Given the description of an element on the screen output the (x, y) to click on. 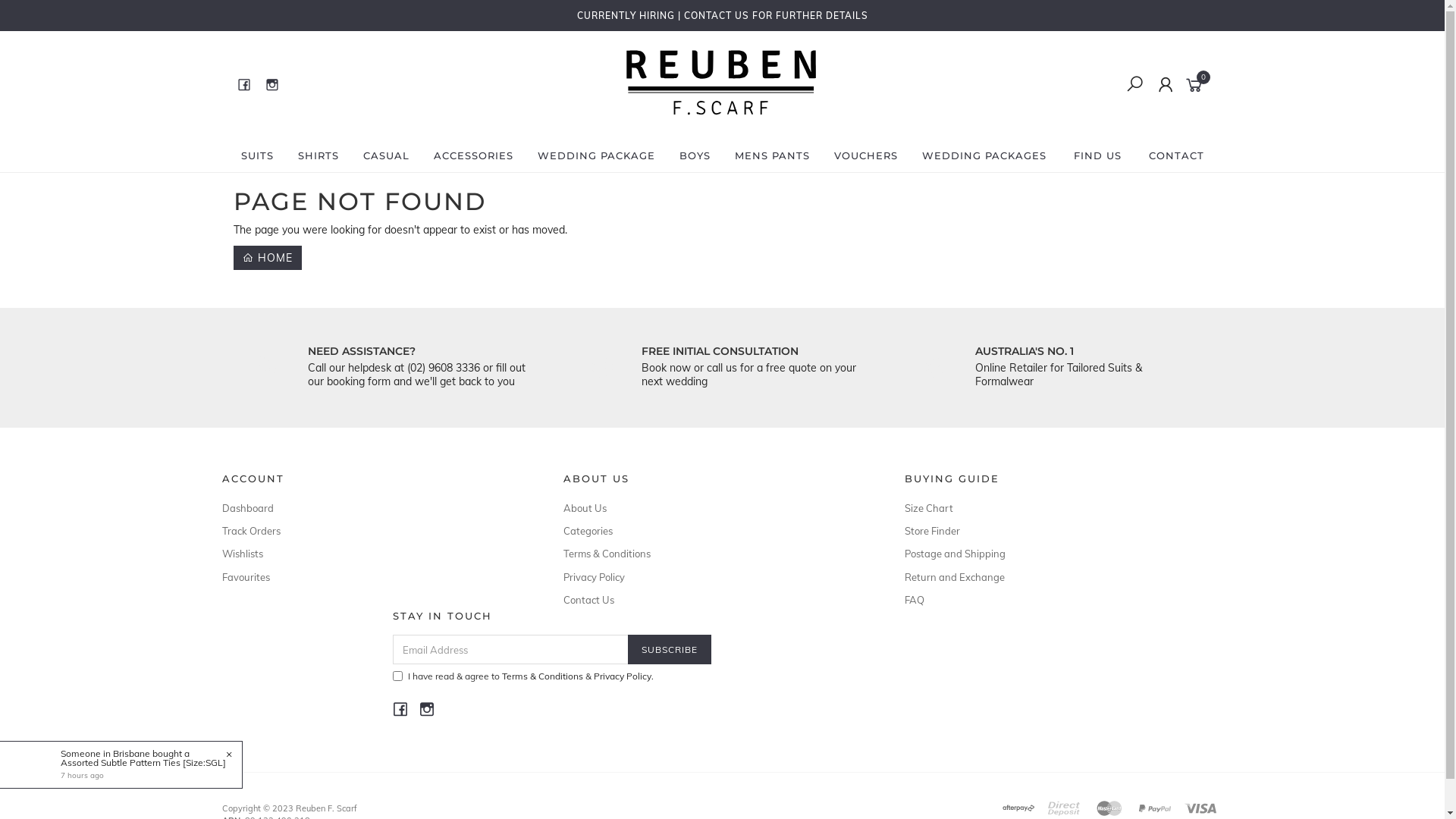
Wishlists Element type: text (374, 553)
BOYS Element type: text (694, 155)
Track Orders Element type: text (374, 530)
MENS PANTS Element type: text (771, 155)
About Us Element type: text (715, 507)
Store Finder Element type: text (1057, 530)
Privacy Policy Element type: text (621, 675)
CASUAL Element type: text (385, 155)
Return and Exchange Element type: text (1057, 576)
Categories Element type: text (715, 530)
Contact Us Element type: text (715, 599)
ACCESSORIES Element type: text (473, 155)
Reuben F. Scarf Element type: hover (720, 130)
VOUCHERS Element type: text (865, 155)
Size Chart Element type: text (1057, 507)
CONTACT Element type: text (1175, 155)
SHIRTS Element type: text (317, 155)
Subscribe Element type: text (669, 649)
FIND US Element type: text (1097, 155)
Postage and Shipping Element type: text (1057, 553)
FAQ Element type: text (1057, 599)
Privacy Policy Element type: text (715, 576)
Terms & Conditions Element type: text (715, 553)
CURRENTLY HIRING | CONTACT US FOR FURTHER DETAILS Element type: text (721, 15)
Terms & Conditions Element type: text (542, 675)
WEDDING PACKAGES Element type: text (984, 155)
WEDDING PACKAGE Element type: text (595, 155)
Favourites Element type: text (374, 576)
Dashboard Element type: text (374, 507)
HOME Element type: text (267, 257)
0 Element type: text (1196, 83)
SUITS Element type: text (257, 155)
